Given the description of an element on the screen output the (x, y) to click on. 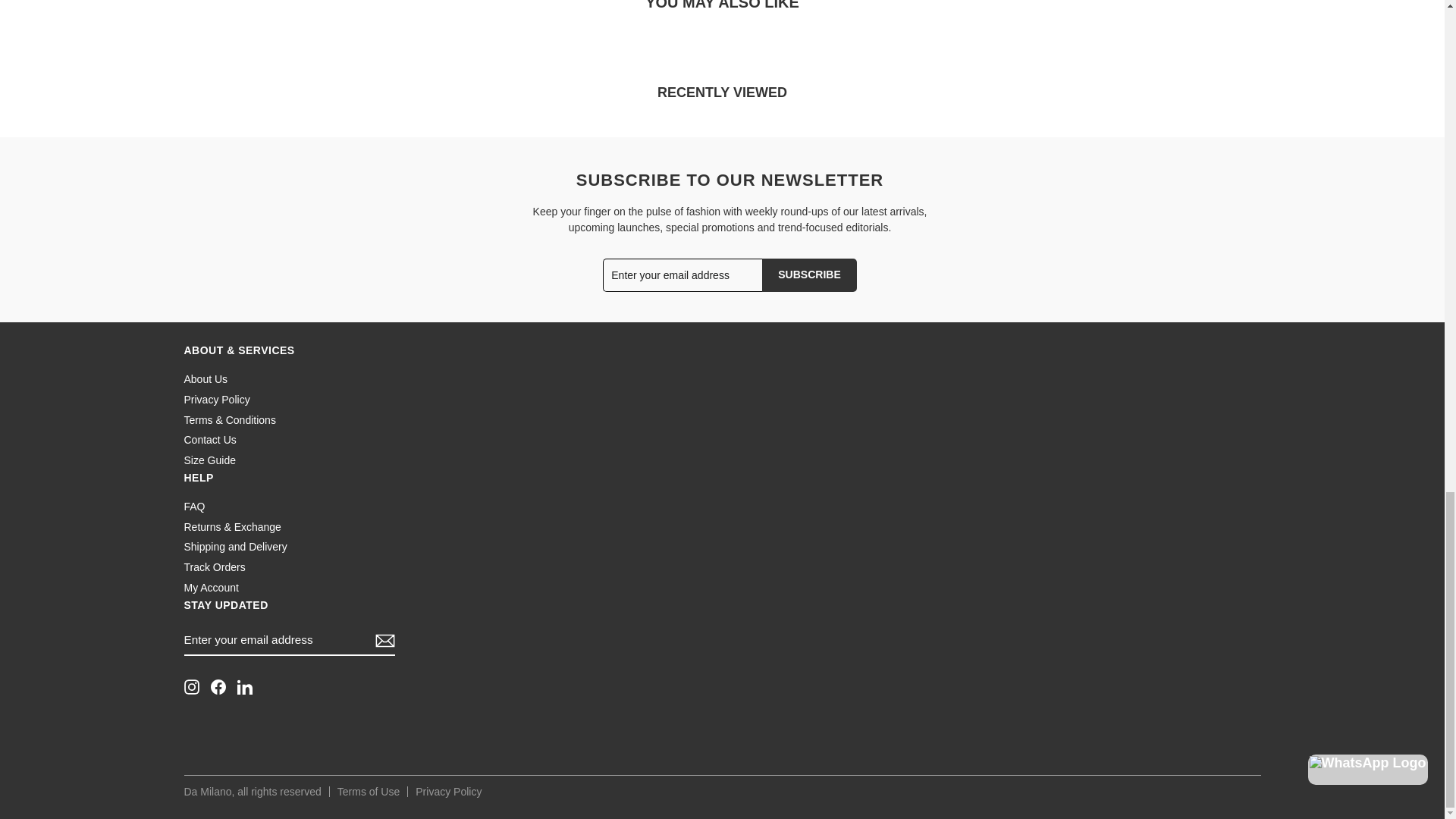
Privacy Policy (447, 791)
Terms of Use (367, 791)
instagram (190, 686)
icon-email (384, 640)
